Given the description of an element on the screen output the (x, y) to click on. 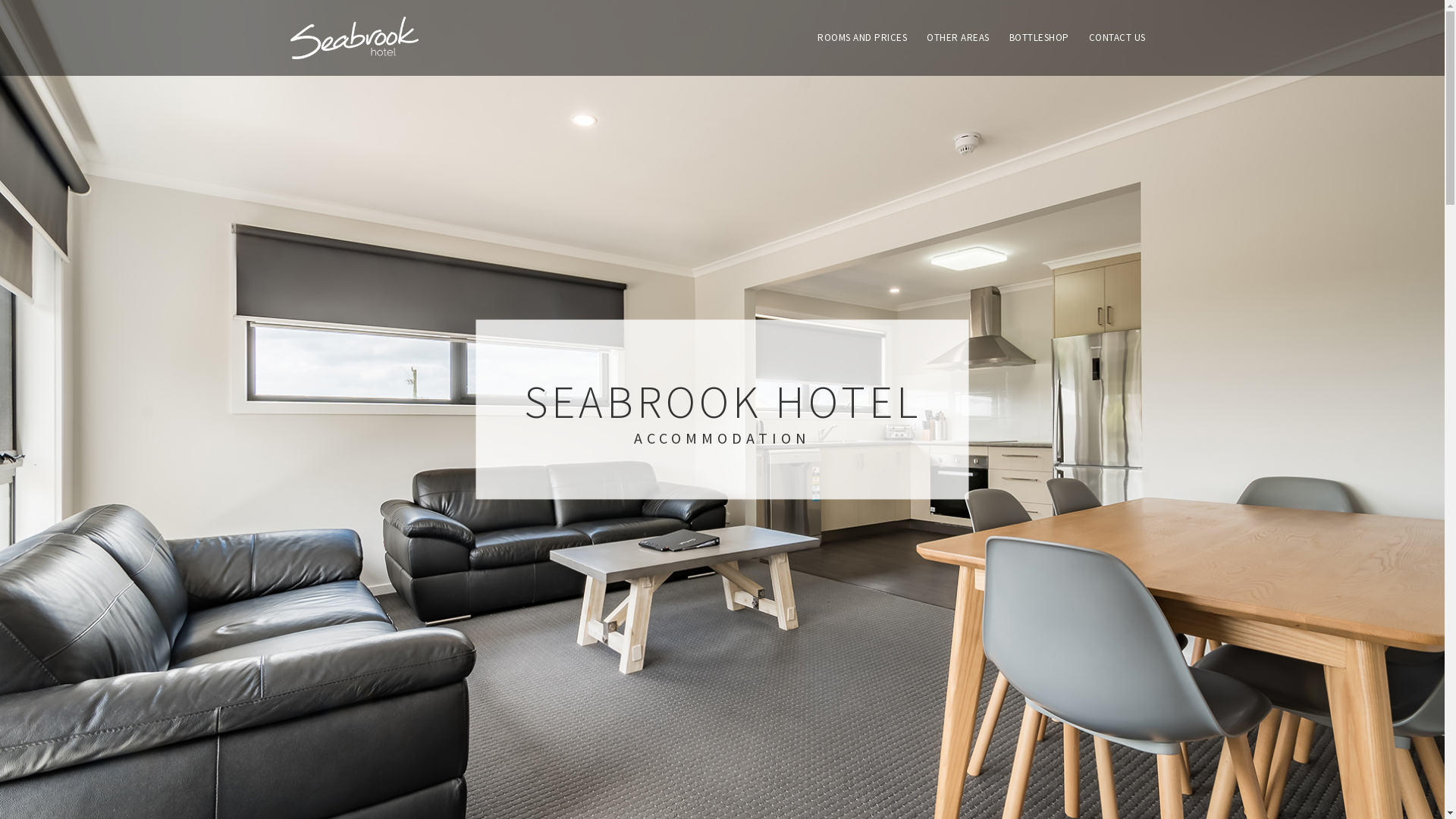
CONTACT US Element type: text (1116, 37)
OTHER AREAS Element type: text (957, 37)
BOTTLESHOP Element type: text (1038, 37)
ROOMS AND PRICES Element type: text (862, 37)
